Given the description of an element on the screen output the (x, y) to click on. 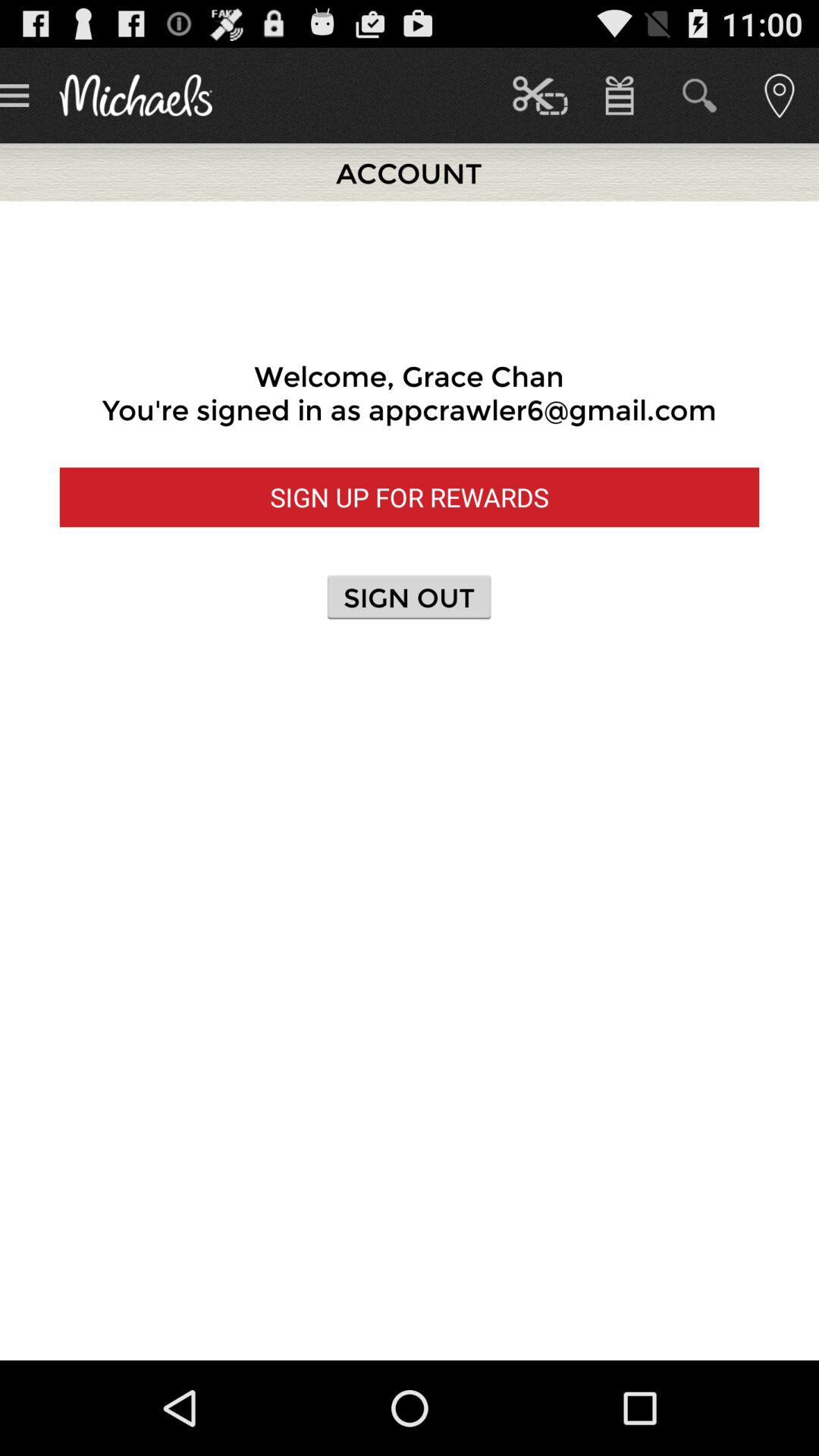
select item next to account icon (540, 95)
